Given the description of an element on the screen output the (x, y) to click on. 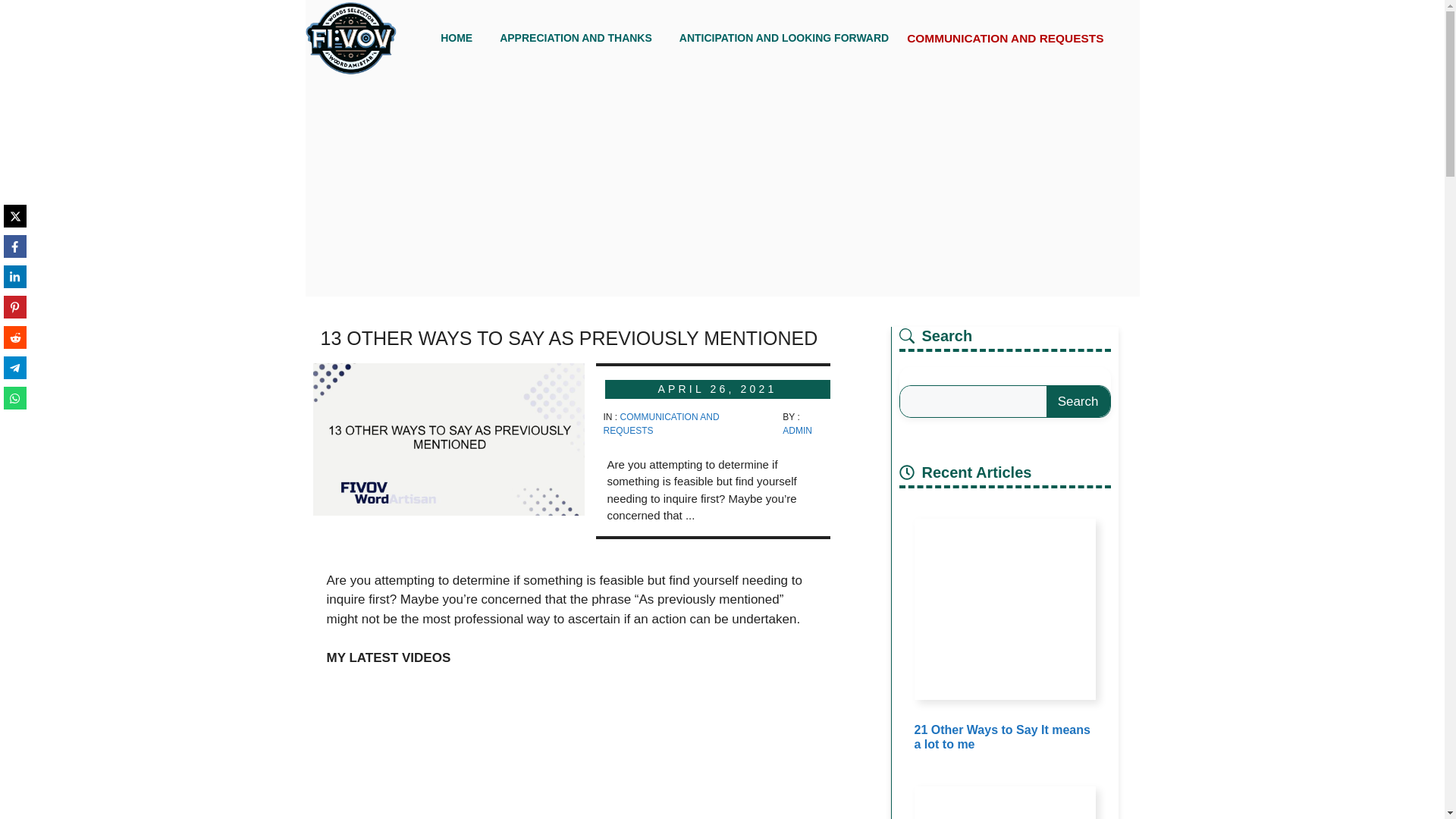
ANTICIPATION AND LOOKING FORWARD (783, 37)
ADMIN (797, 430)
Search (1077, 401)
COMMUNICATION AND REQUESTS (661, 423)
HOME (456, 37)
COMMUNICATION AND REQUESTS (995, 36)
21 Other Ways to Say It means a lot to me (1002, 737)
APPRECIATION AND THANKS (575, 37)
YouTube video player (571, 753)
